Given the description of an element on the screen output the (x, y) to click on. 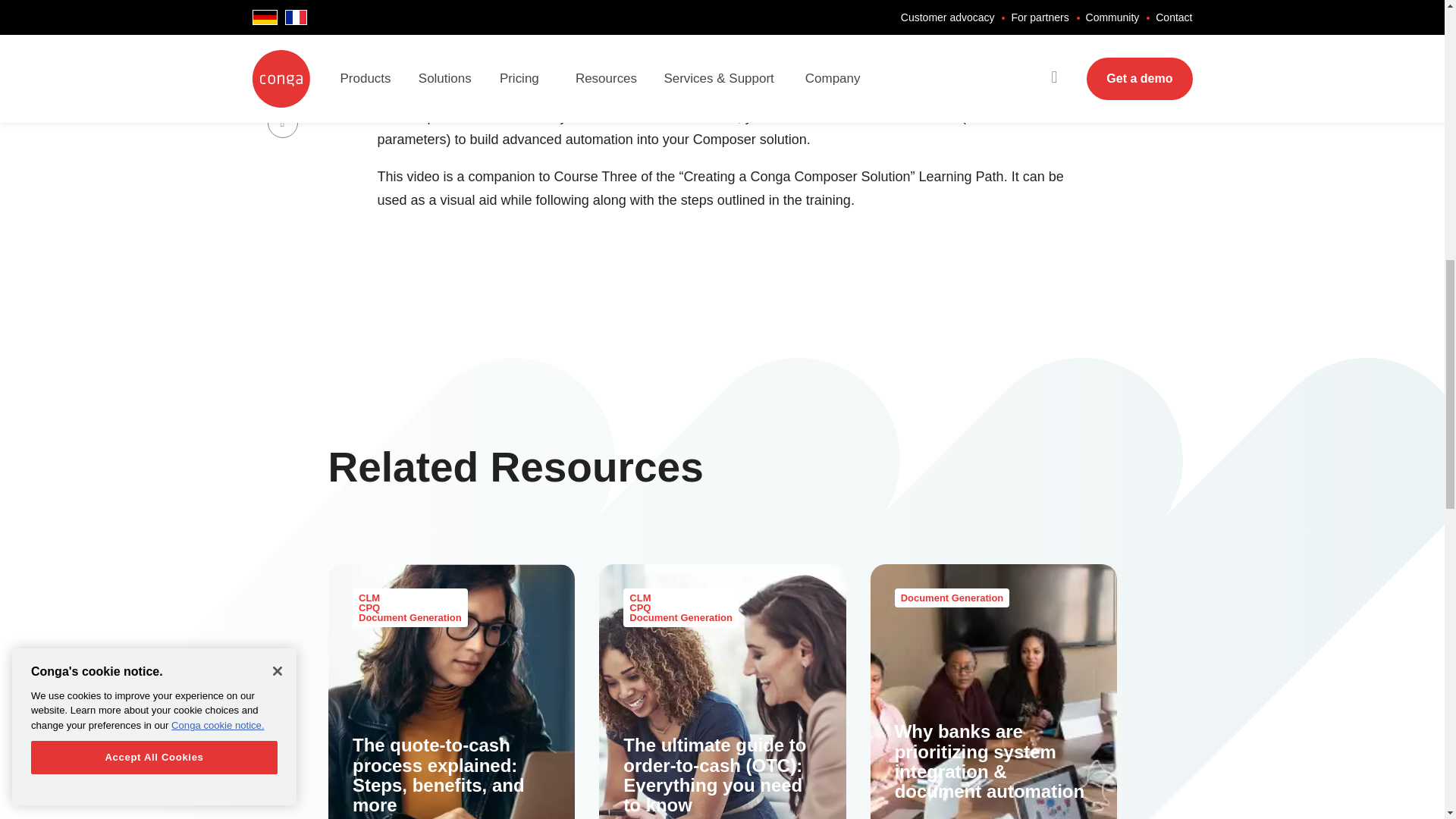
Share to Facebook (281, 122)
Share to Linkedin (281, 80)
